Given the description of an element on the screen output the (x, y) to click on. 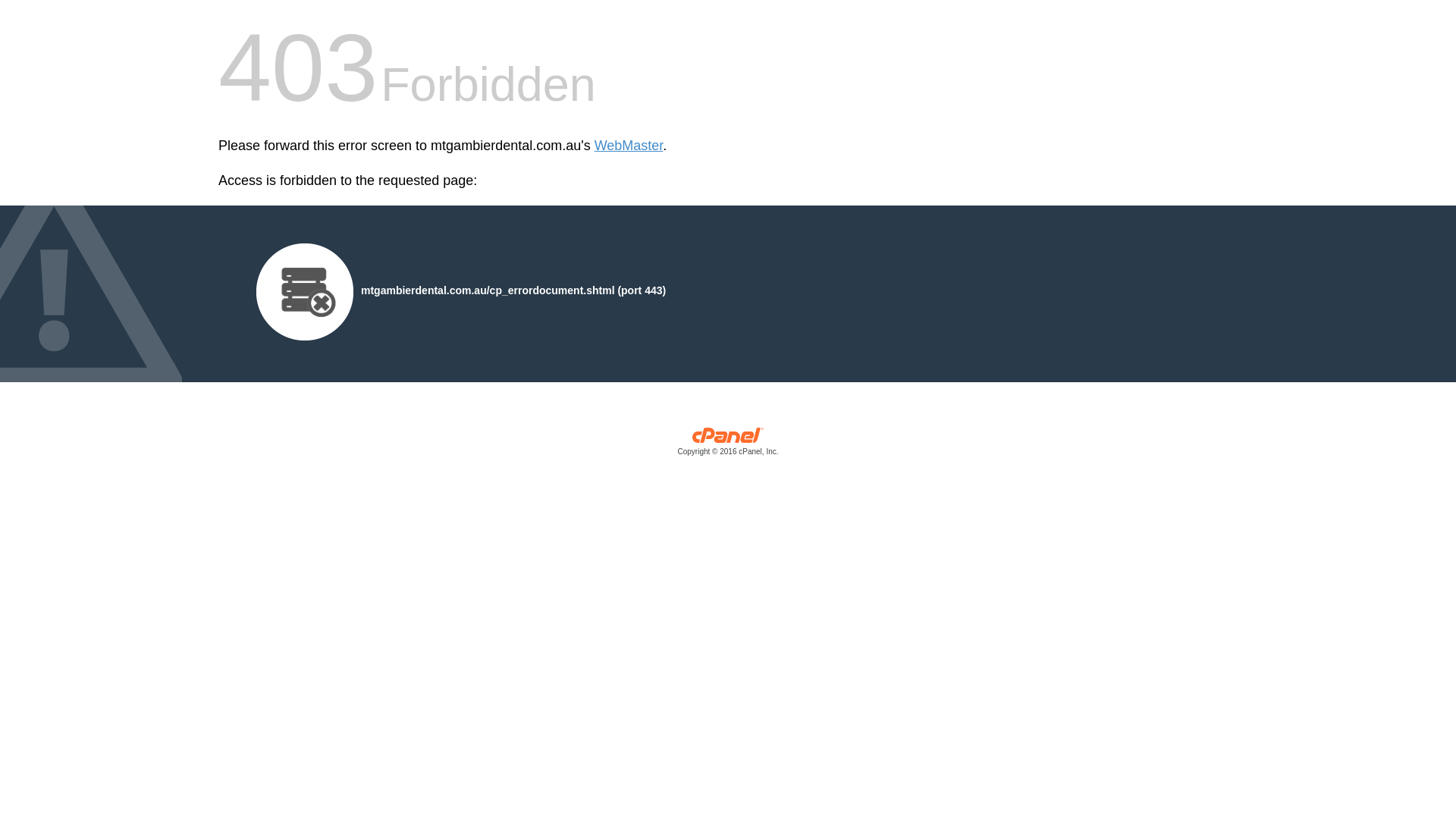
WebMaster Element type: text (628, 145)
